Given the description of an element on the screen output the (x, y) to click on. 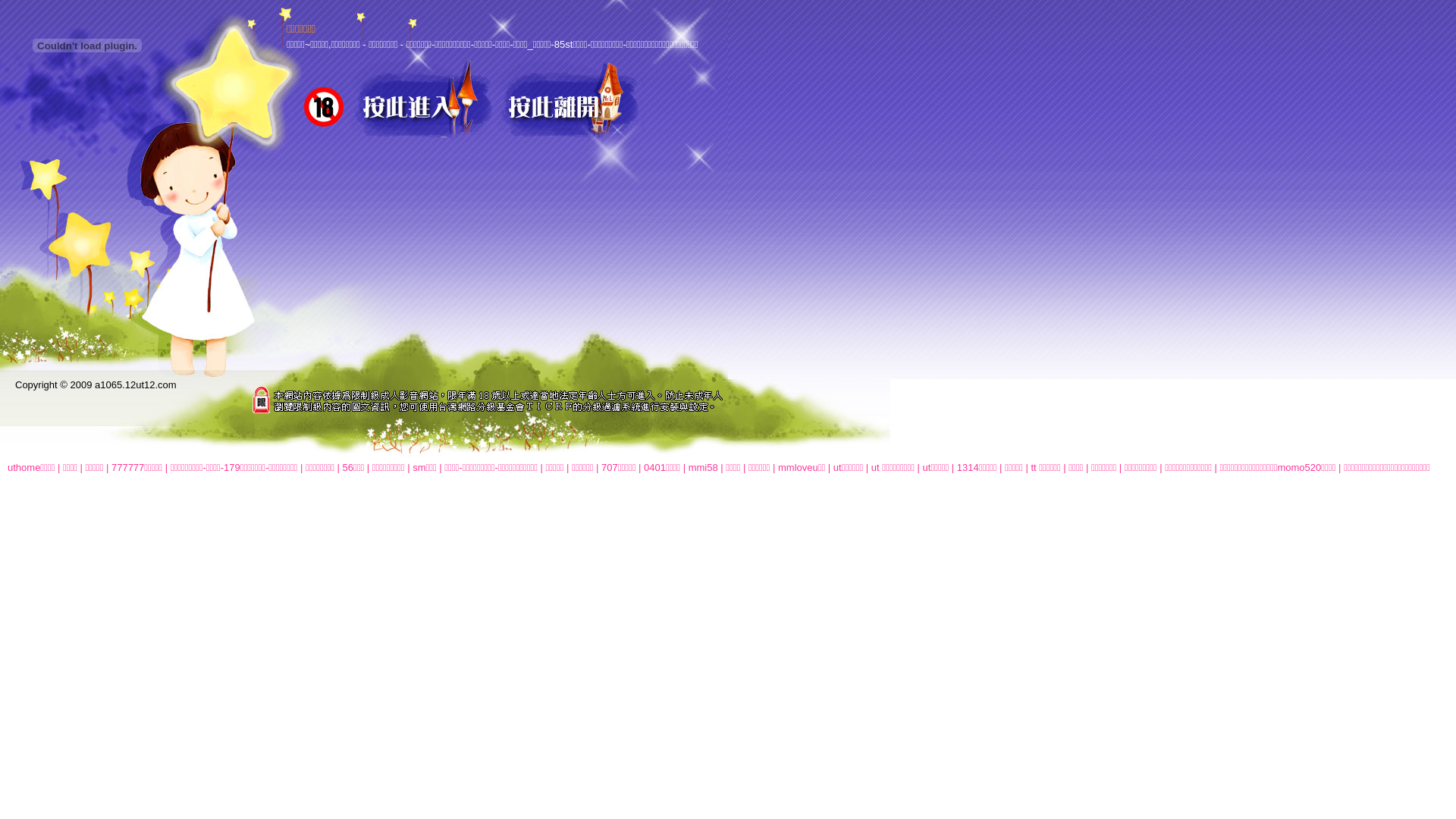
mmi58 Element type: text (703, 467)
